Given the description of an element on the screen output the (x, y) to click on. 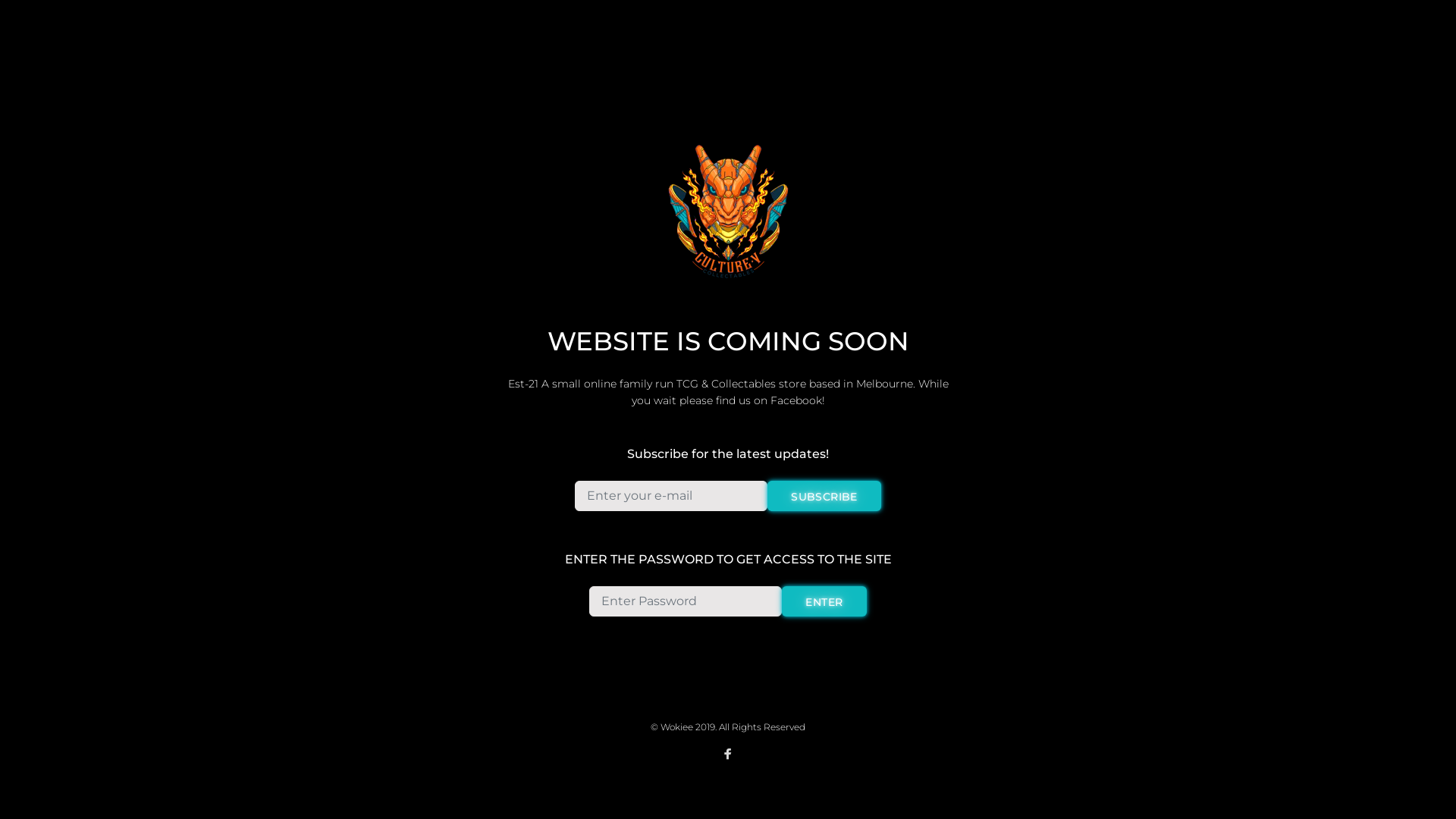
ENTER Element type: text (823, 600)
SUBSCRIBE Element type: text (824, 495)
